Given the description of an element on the screen output the (x, y) to click on. 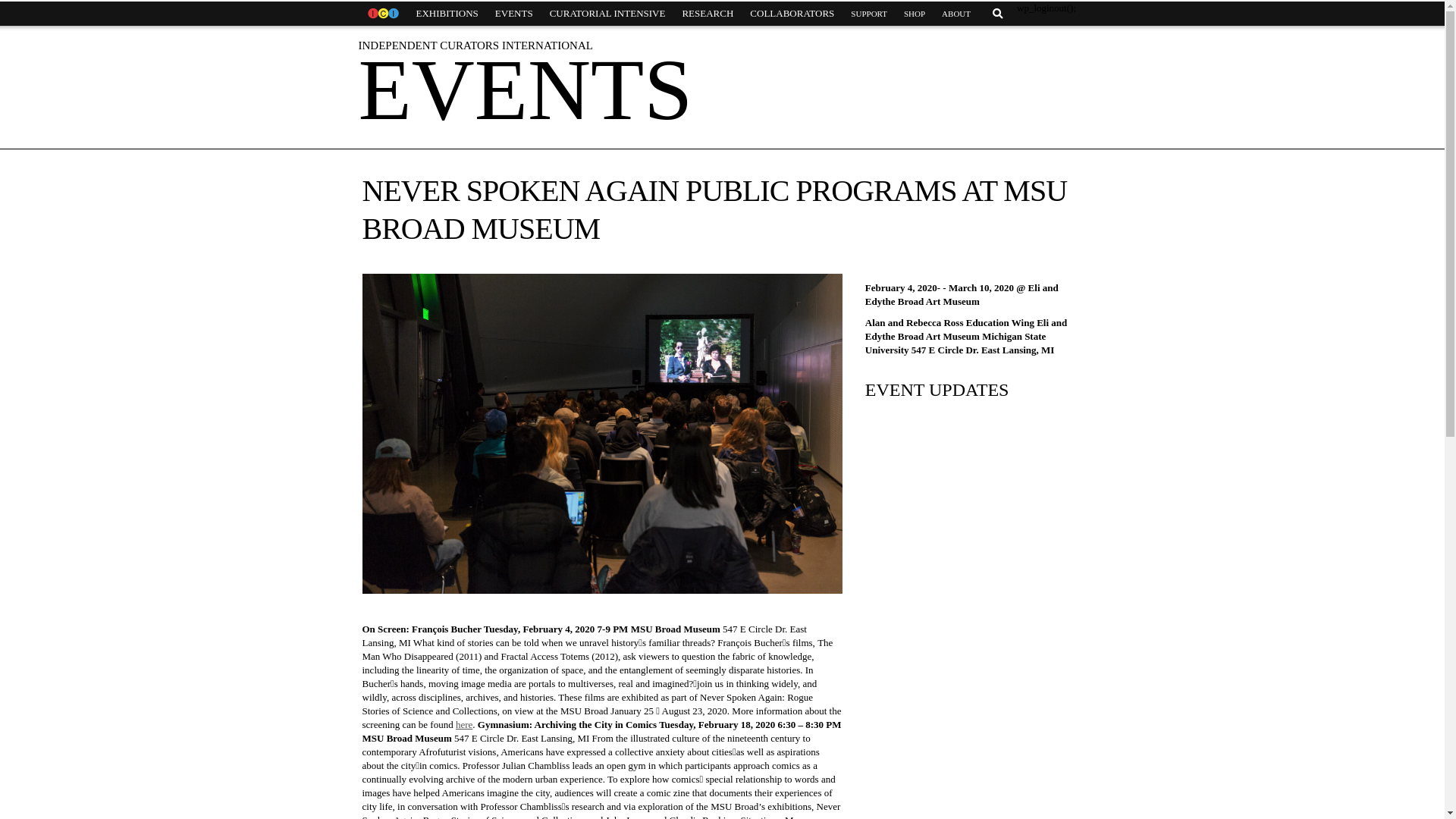
HOME (382, 13)
EXHIBITIONS (446, 13)
CURATORIAL INTENSIVE (607, 13)
COLLABORATORS (792, 13)
EVENTS (513, 13)
RESEARCH (706, 13)
